Given the description of an element on the screen output the (x, y) to click on. 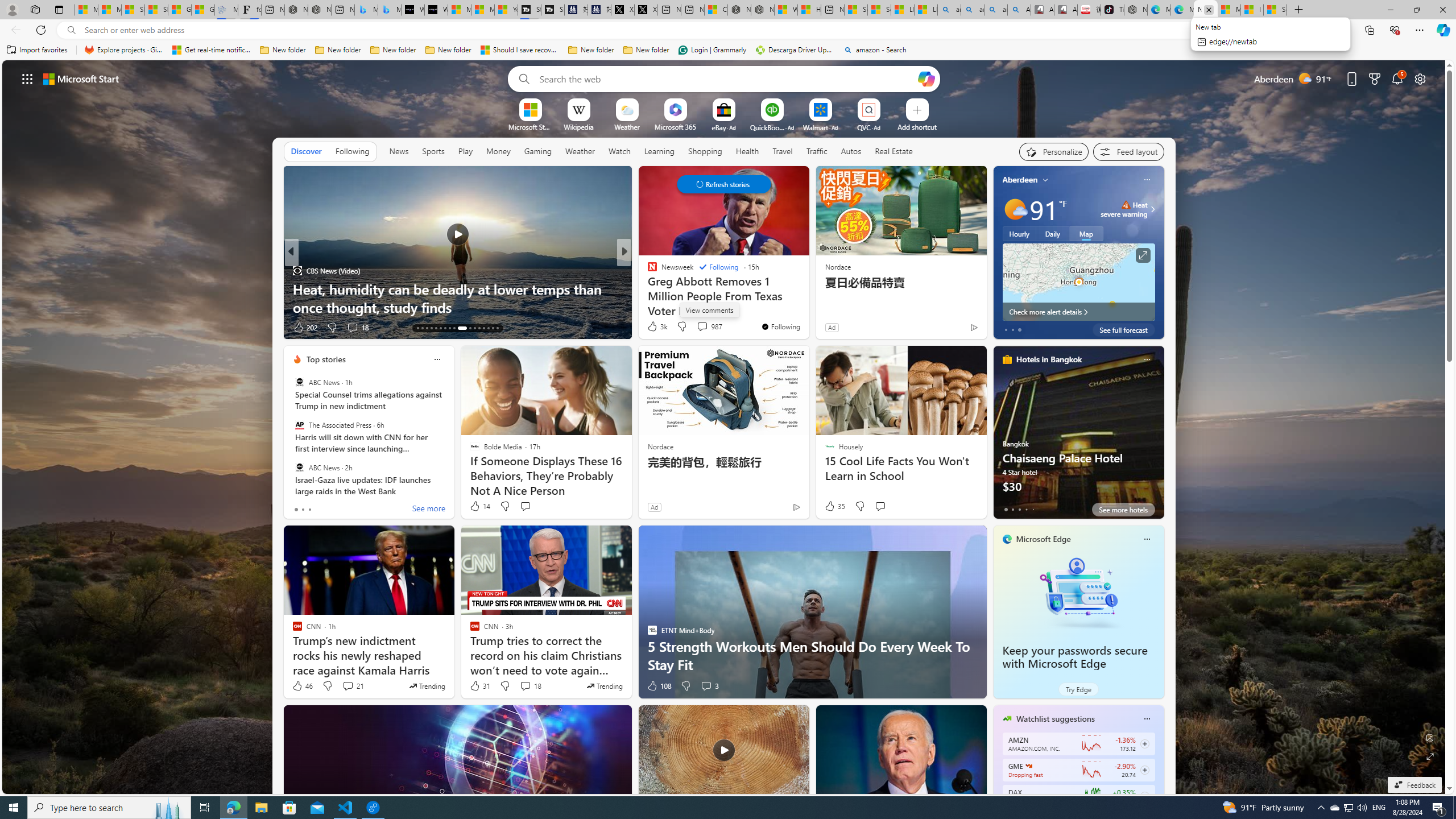
Hide this story (774, 179)
Weather (580, 151)
View comments 85 Comment (698, 327)
31 Like (479, 685)
Ad (653, 506)
AutomationID: tab-18 (440, 328)
tab-4 (1032, 509)
Shopping (705, 151)
This story is trending (604, 685)
AutomationID: tab-14 (422, 328)
Restore (1416, 9)
Mostly sunny (1014, 208)
Settings and more (Alt+F) (1419, 29)
View comments 52 Comment (704, 327)
